Given the description of an element on the screen output the (x, y) to click on. 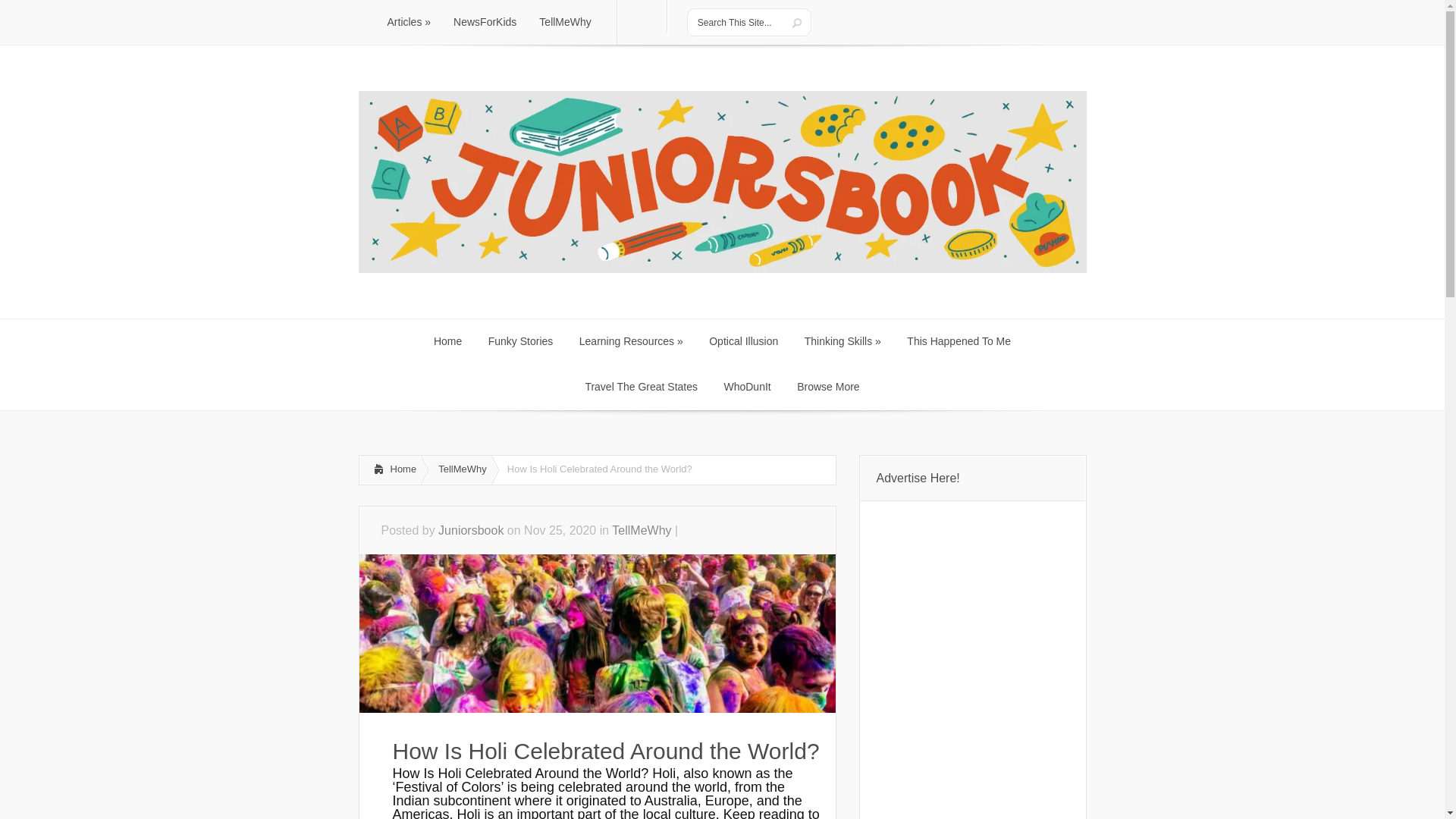
NewsForKids (484, 22)
Posts by Juniorsbook (470, 530)
Thinking Skills (842, 341)
Search This Site... (736, 22)
TellMeWhy (564, 22)
Learning Resources (630, 341)
Funky Stories (520, 341)
Optical Illusion (743, 341)
Articles (408, 22)
Home (447, 341)
